Given the description of an element on the screen output the (x, y) to click on. 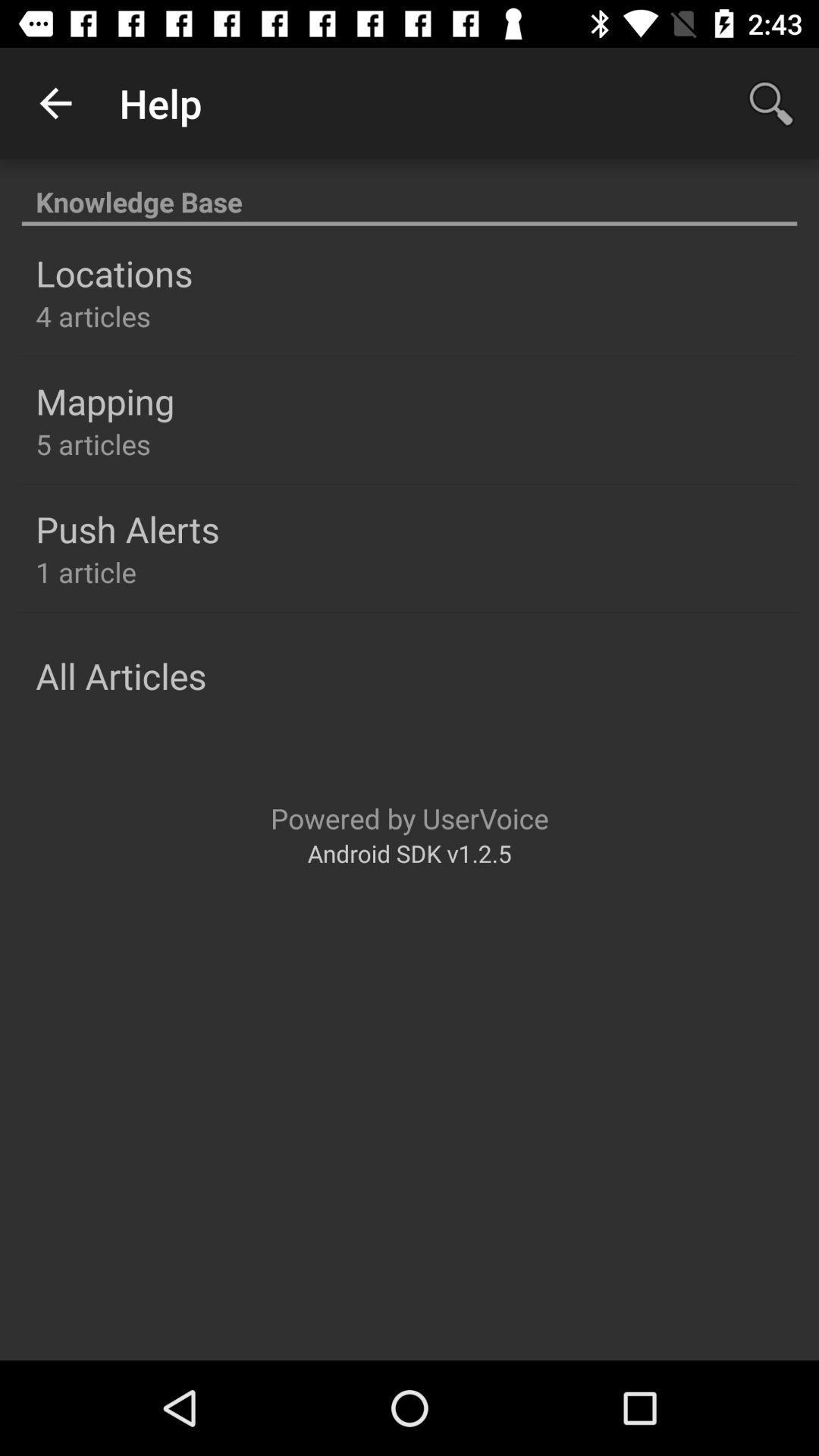
tap icon at the top right corner (771, 103)
